Given the description of an element on the screen output the (x, y) to click on. 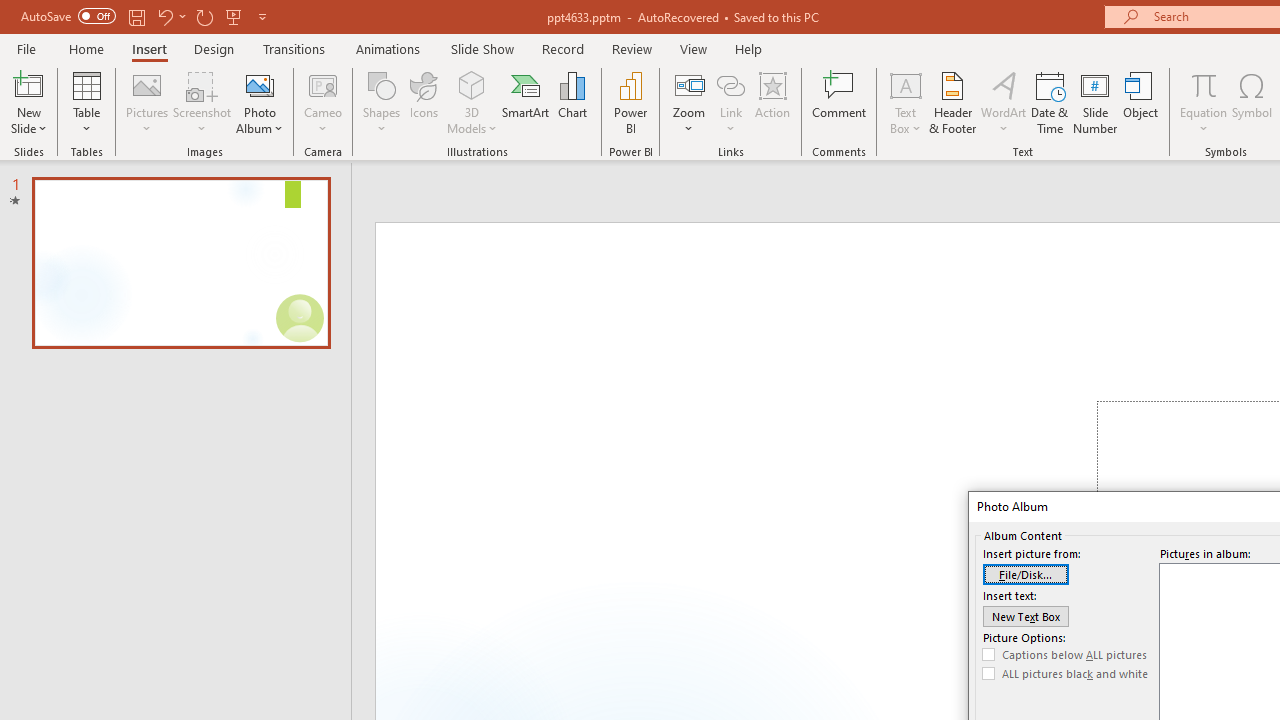
Object... (1141, 102)
Power BI (630, 102)
Table (86, 102)
Captions below ALL pictures (1065, 655)
Date & Time... (1050, 102)
New Text Box (1025, 615)
